Given the description of an element on the screen output the (x, y) to click on. 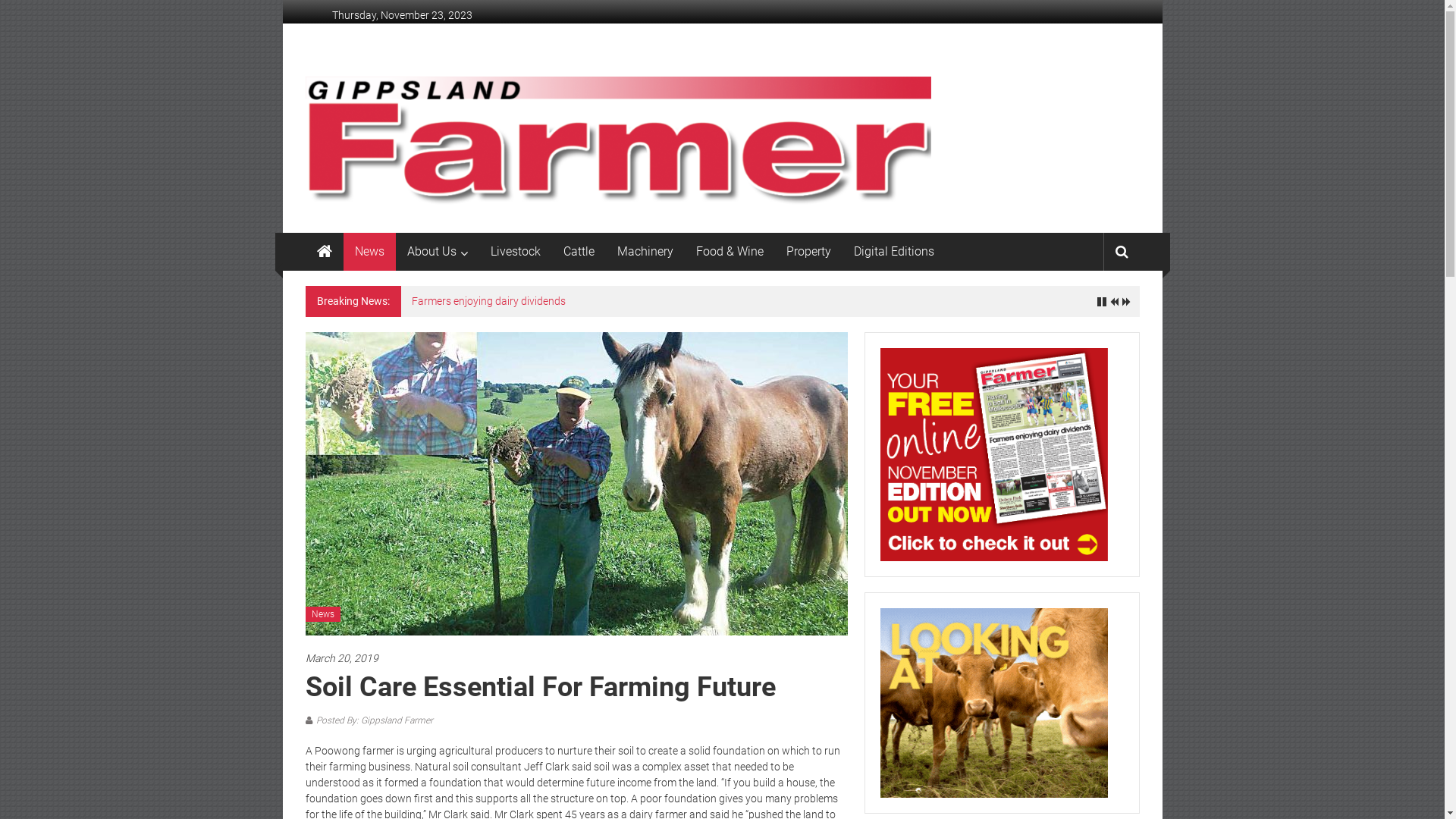
News Element type: text (369, 251)
Food & Wine Element type: text (729, 251)
Cattle Element type: text (577, 251)
Farmers enjoying dairy dividends Element type: text (487, 300)
March 20, 2019 Element type: text (575, 658)
News Element type: text (321, 613)
GippslandFarmer Element type: hover (323, 251)
About Us Element type: text (430, 251)
Livestock Element type: text (514, 251)
Machinery Element type: text (645, 251)
Digital Editions Element type: text (893, 251)
Posted By: Gippsland Farmer Element type: text (373, 720)
Property Element type: text (807, 251)
